Given the description of an element on the screen output the (x, y) to click on. 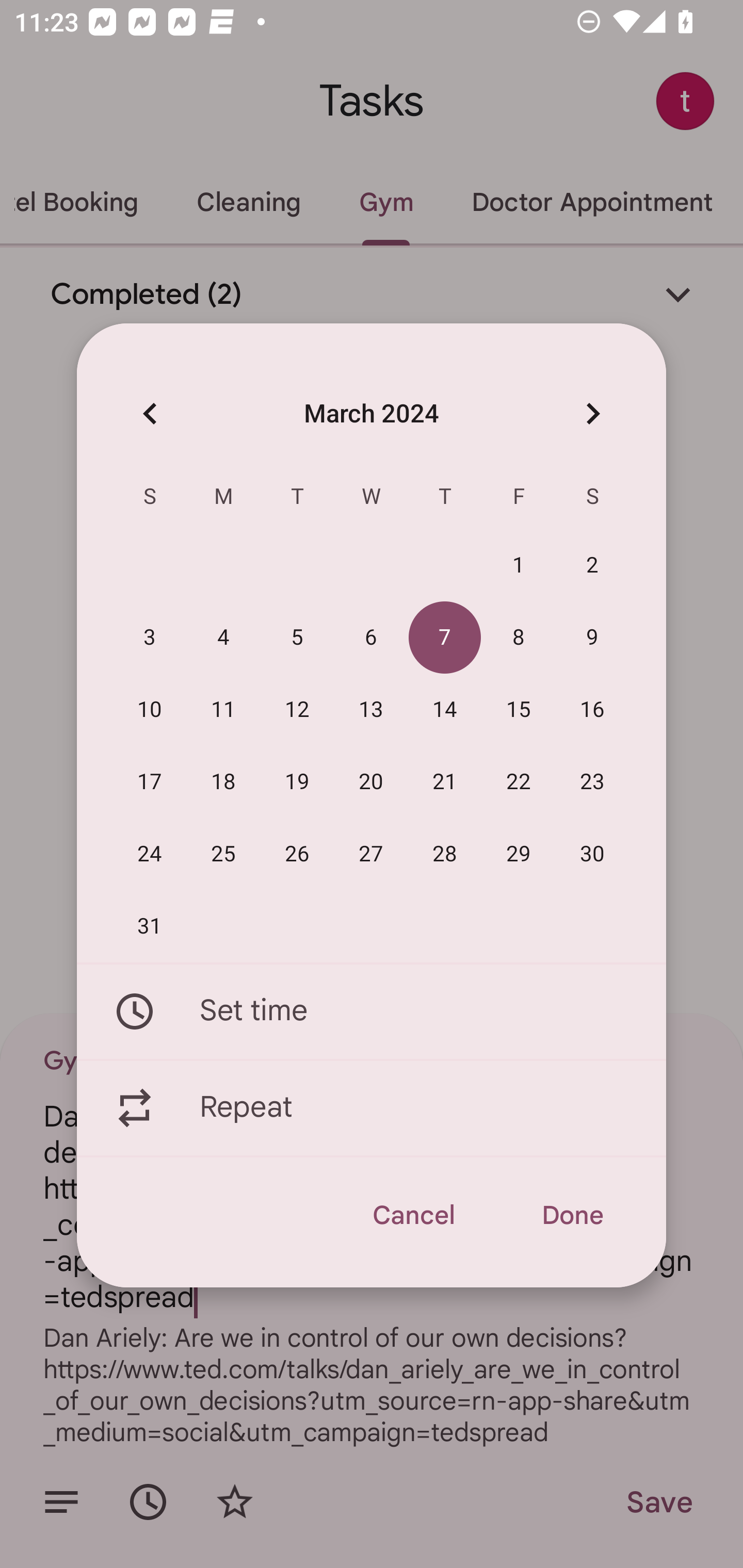
Previous month (149, 413)
Next month (592, 413)
1 01 March 2024 (518, 565)
2 02 March 2024 (592, 565)
3 03 March 2024 (149, 638)
4 04 March 2024 (223, 638)
5 05 March 2024 (297, 638)
6 06 March 2024 (370, 638)
7 07 March 2024 (444, 638)
8 08 March 2024 (518, 638)
9 09 March 2024 (592, 638)
10 10 March 2024 (149, 710)
11 11 March 2024 (223, 710)
12 12 March 2024 (297, 710)
13 13 March 2024 (370, 710)
14 14 March 2024 (444, 710)
15 15 March 2024 (518, 710)
16 16 March 2024 (592, 710)
17 17 March 2024 (149, 782)
18 18 March 2024 (223, 782)
19 19 March 2024 (297, 782)
20 20 March 2024 (370, 782)
21 21 March 2024 (444, 782)
22 22 March 2024 (518, 782)
23 23 March 2024 (592, 782)
24 24 March 2024 (149, 854)
25 25 March 2024 (223, 854)
26 26 March 2024 (297, 854)
27 27 March 2024 (370, 854)
28 28 March 2024 (444, 854)
29 29 March 2024 (518, 854)
30 30 March 2024 (592, 854)
31 31 March 2024 (149, 926)
Set time (371, 1011)
Repeat (371, 1108)
Cancel (412, 1215)
Done (571, 1215)
